Given the description of an element on the screen output the (x, y) to click on. 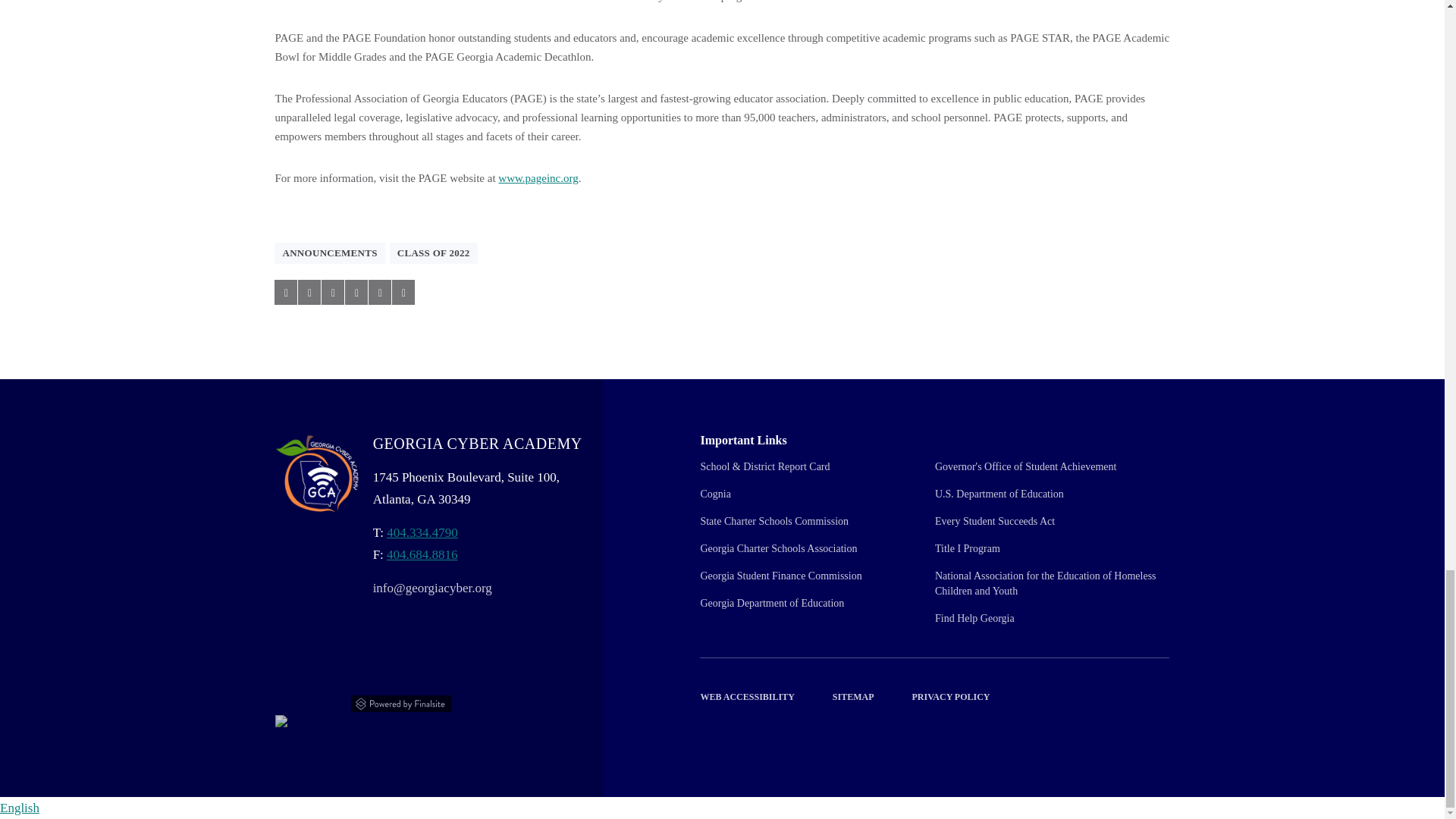
Print this page (402, 292)
Share to Email (379, 292)
Powered by Finalsite opens in a new window (401, 701)
Share to Twitter (309, 292)
Share to LinkedIn (332, 292)
Share to Pinterest (356, 292)
Share to Facebook (286, 292)
